Given the description of an element on the screen output the (x, y) to click on. 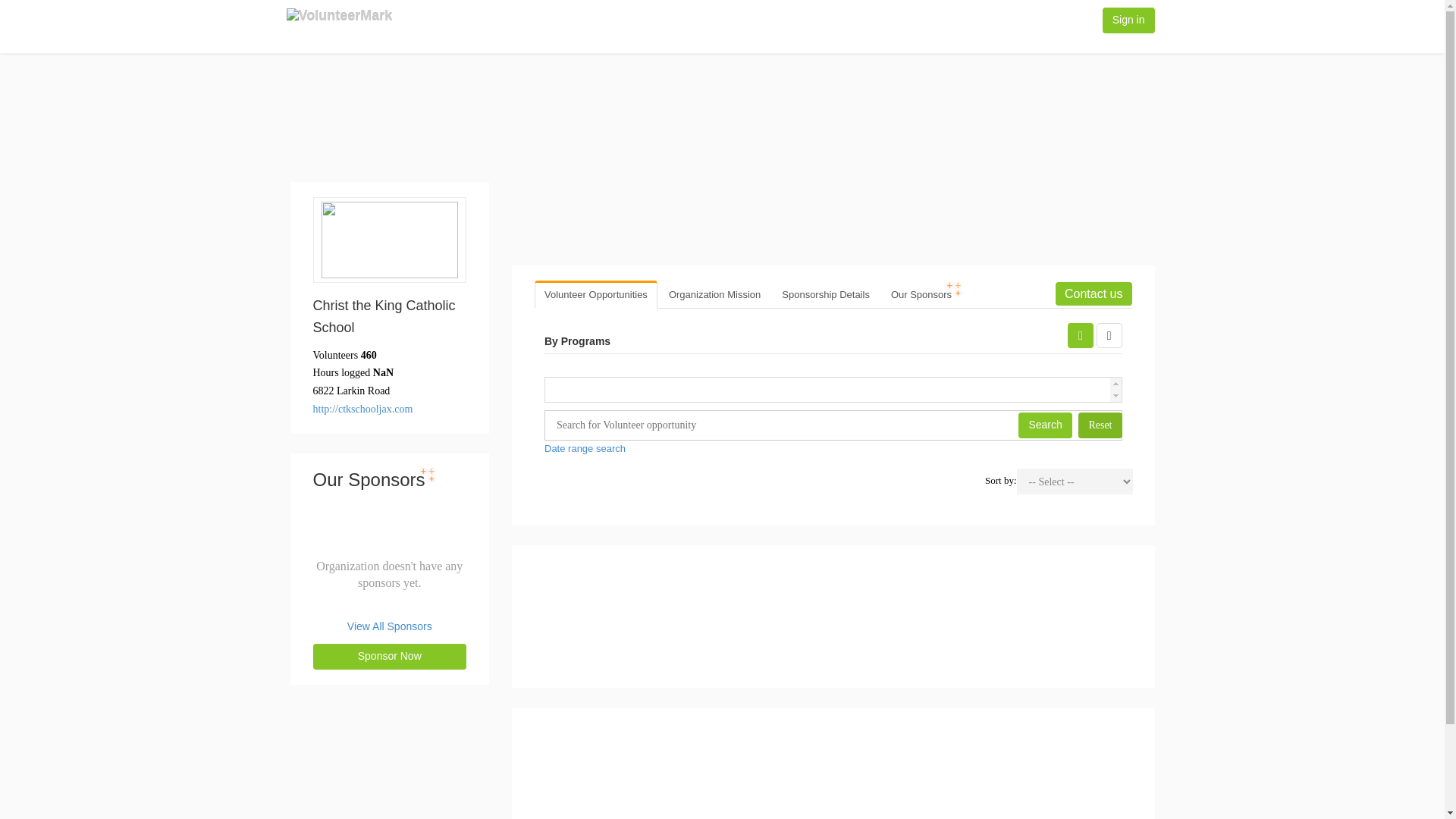
Contact us (1093, 293)
Reset (1099, 425)
Sign in (920, 294)
List View (1128, 20)
Organization Mission (1080, 335)
Sponsorship Details (714, 294)
Sponsor Now (825, 294)
Show all (389, 656)
Volunteer Opportunities (1109, 335)
